Given the description of an element on the screen output the (x, y) to click on. 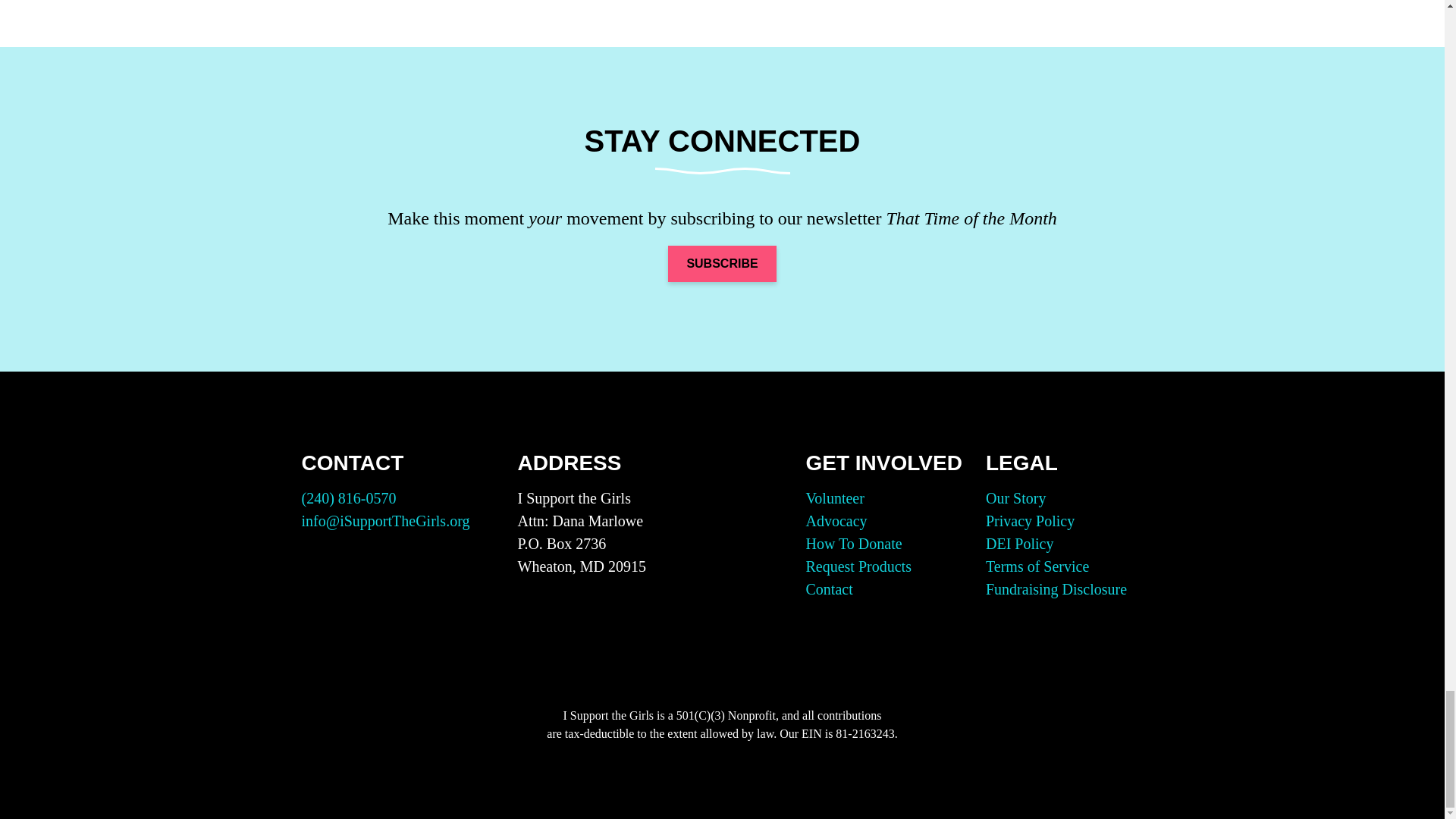
Email Us (385, 520)
Call Us (348, 497)
